Given the description of an element on the screen output the (x, y) to click on. 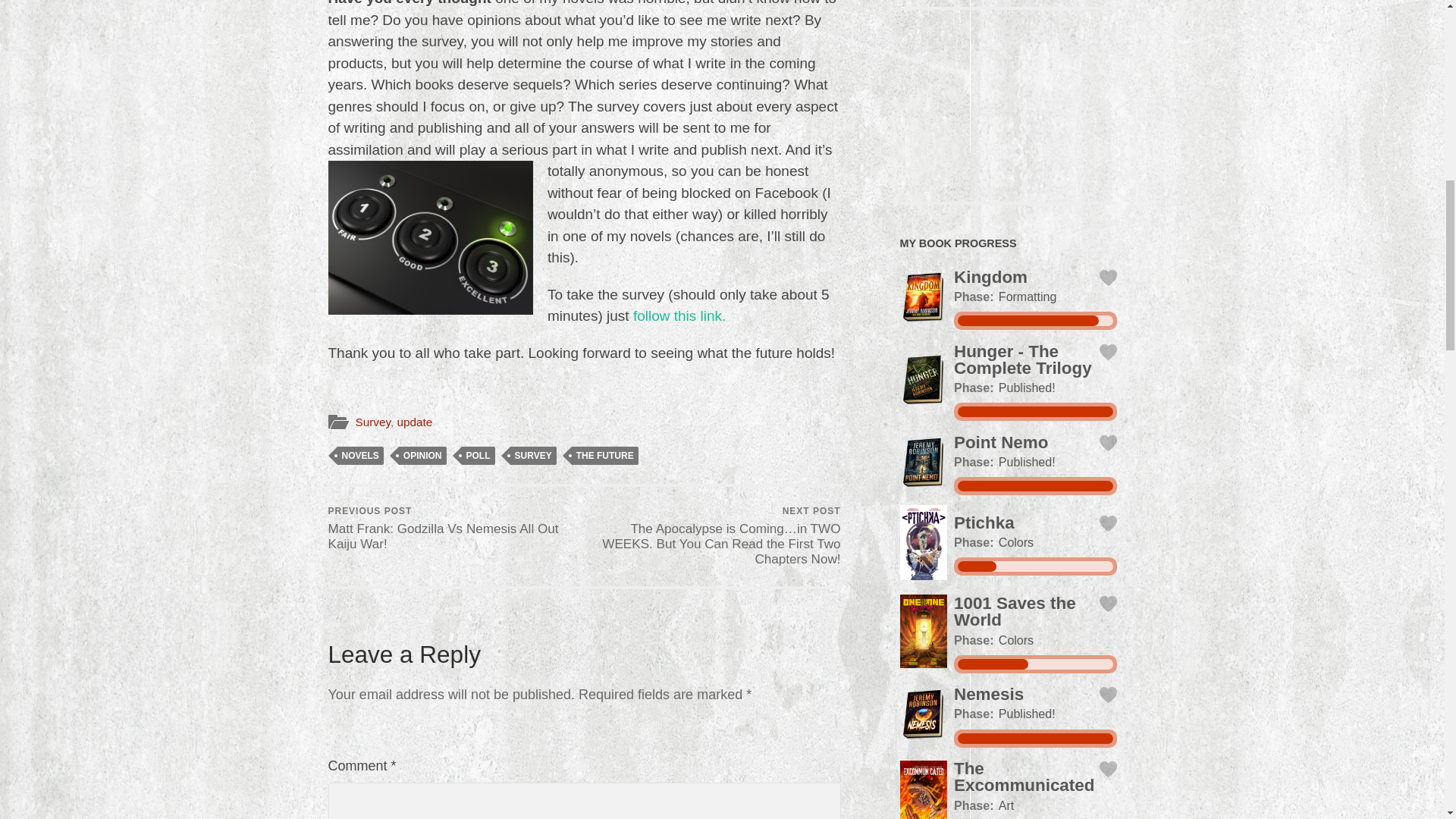
SURVEY (533, 455)
NOVELS (359, 455)
follow this link. (679, 315)
My Top Videos (1007, 103)
THE FUTURE (605, 455)
Survey (372, 421)
update (414, 421)
POLL (478, 455)
OPINION (422, 455)
